Given the description of an element on the screen output the (x, y) to click on. 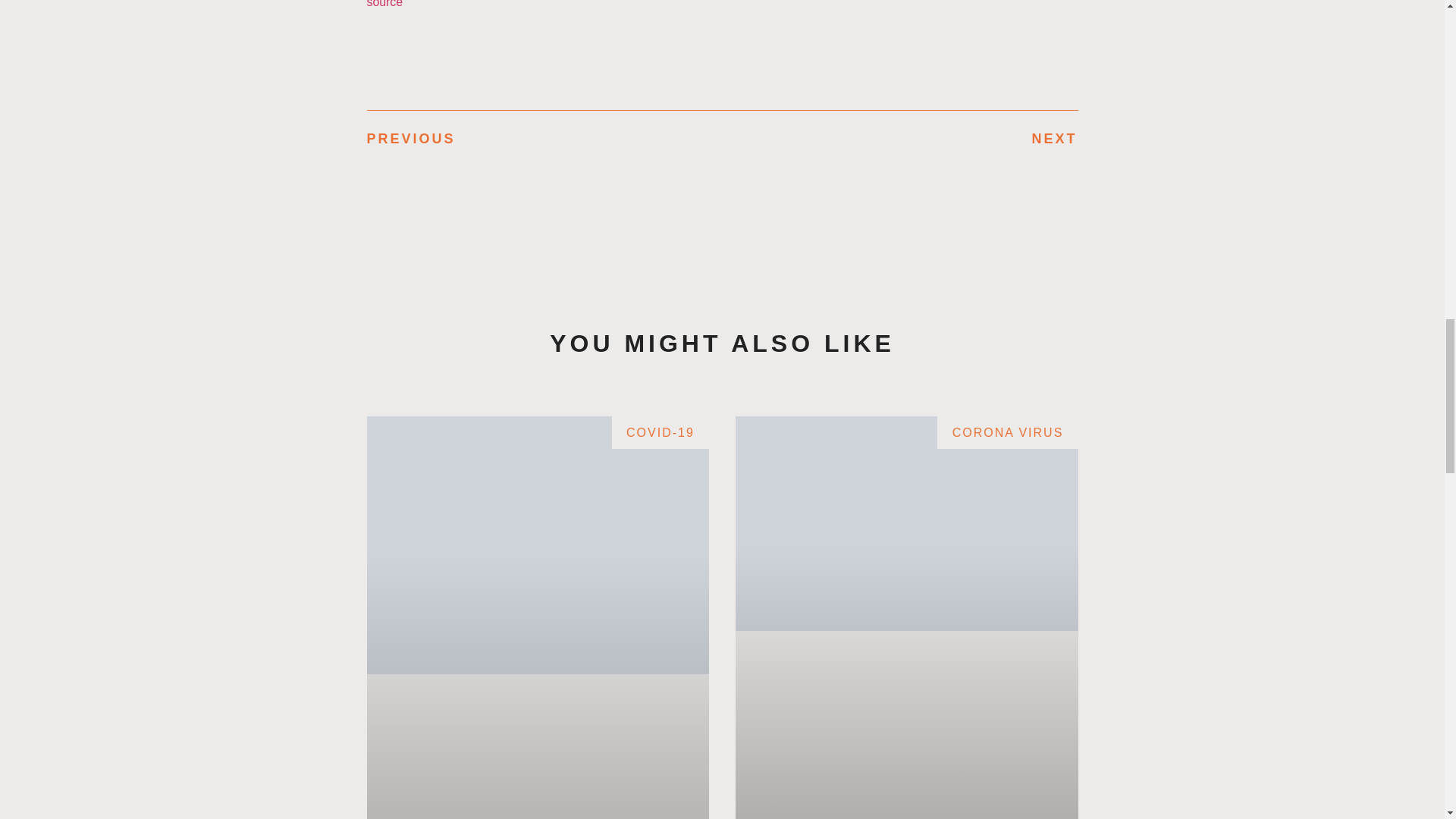
source (384, 4)
PREVIOUS (544, 138)
NEXT (899, 138)
